Given the description of an element on the screen output the (x, y) to click on. 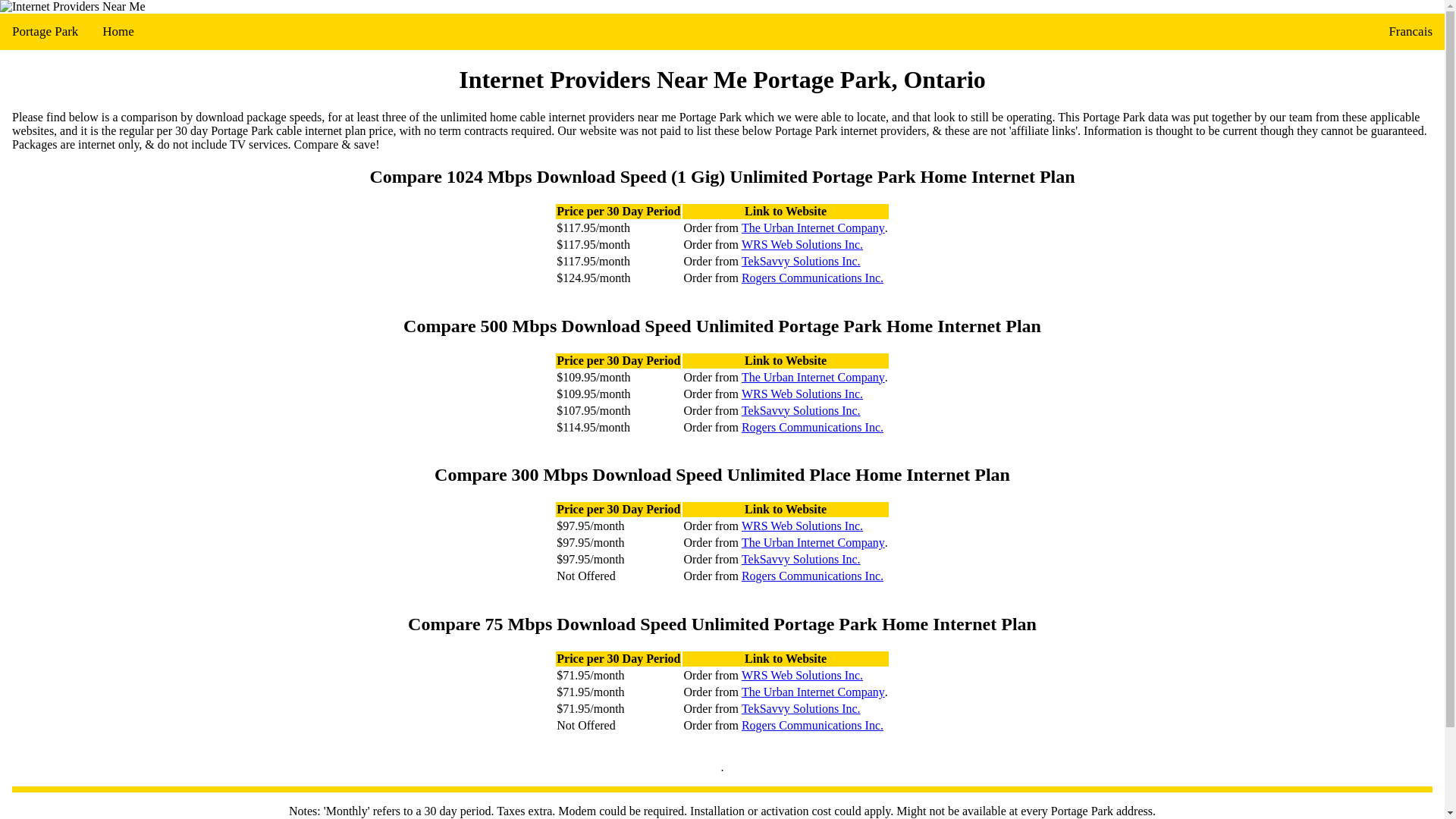
WRS Web Solutions Inc. (802, 244)
Portage Park (45, 31)
WRS Web Solutions Inc. (802, 675)
Rogers Communications Inc. (812, 725)
Rogers Communications Inc. (812, 427)
The Urban Internet Company (813, 377)
WRS Web Solutions Inc. (802, 393)
WRS Web Solutions Inc. (802, 526)
The Urban Internet Company (813, 542)
Home (118, 31)
TekSavvy Solutions Inc. (800, 261)
TekSavvy Solutions Inc. (800, 708)
Rogers Communications Inc. (812, 278)
TekSavvy Solutions Inc. (800, 409)
The Urban Internet Company (813, 692)
